Given the description of an element on the screen output the (x, y) to click on. 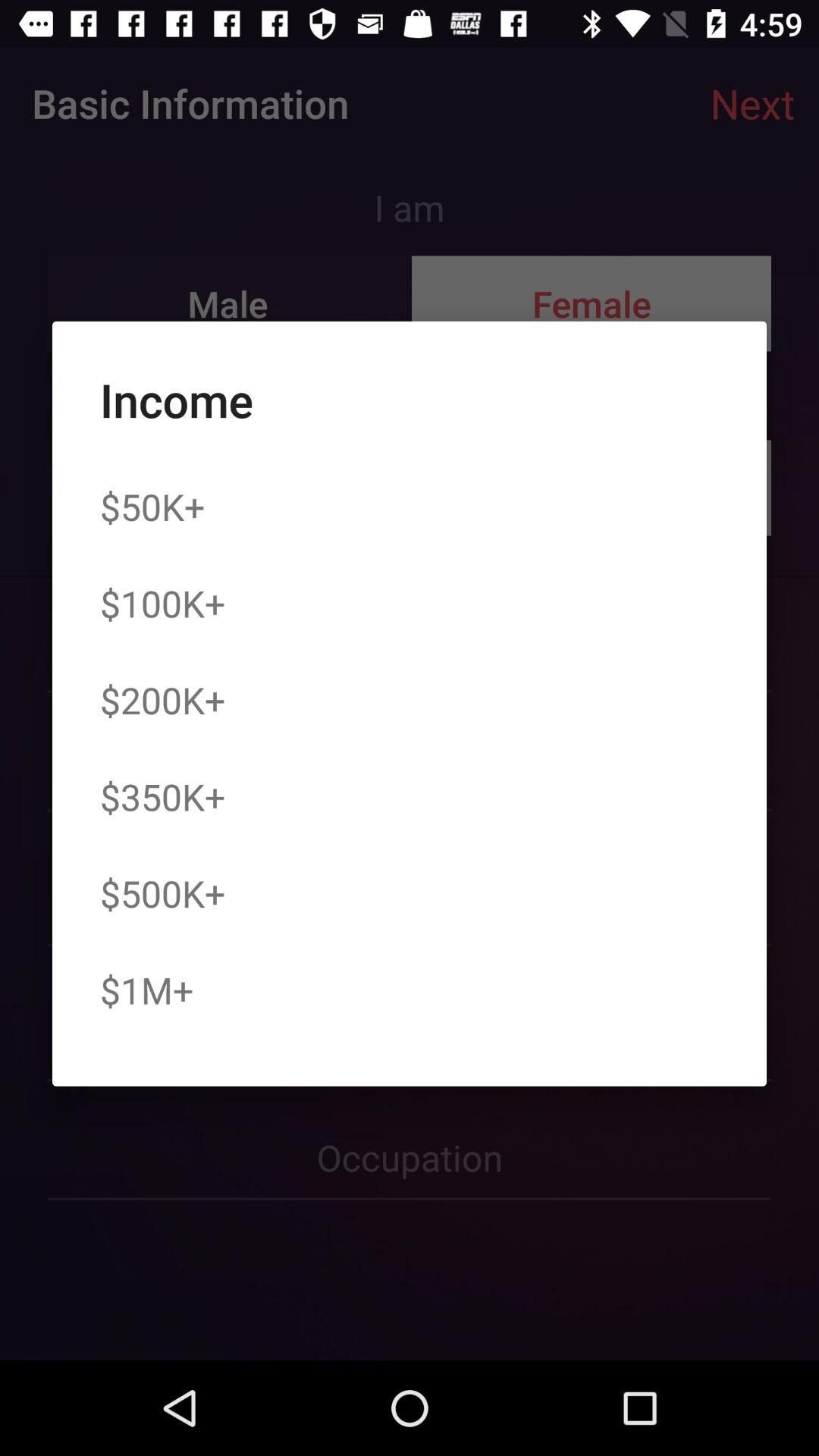
choose the item below the $200k+ (162, 796)
